Given the description of an element on the screen output the (x, y) to click on. 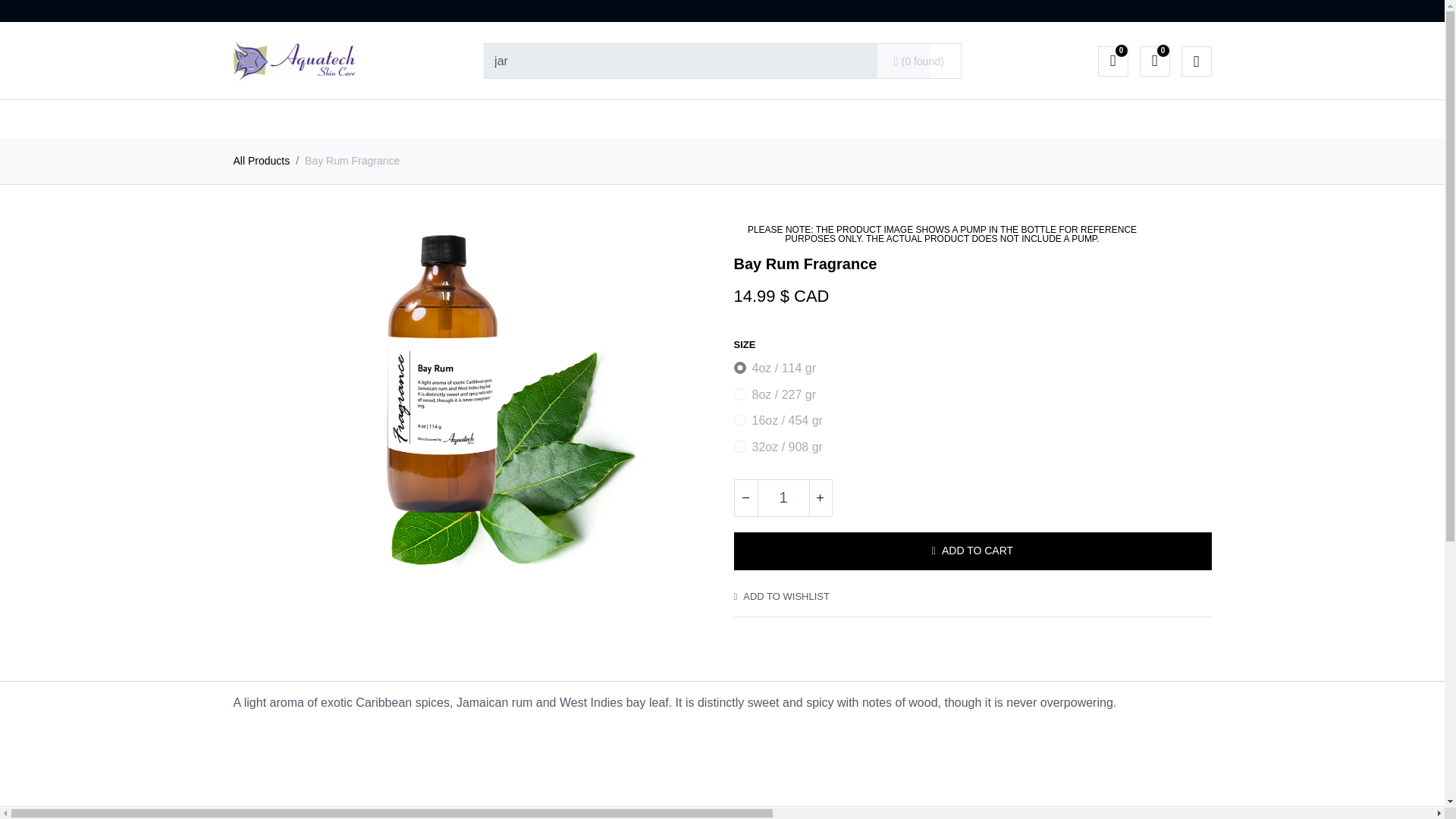
Search (918, 61)
Aquatech Skin Care (293, 60)
832 (739, 419)
jar (706, 61)
0 (1153, 60)
Sign in (1195, 60)
jar (706, 61)
816 (739, 394)
833 (739, 446)
1 (783, 497)
0 (1112, 60)
819 (739, 367)
